Given the description of an element on the screen output the (x, y) to click on. 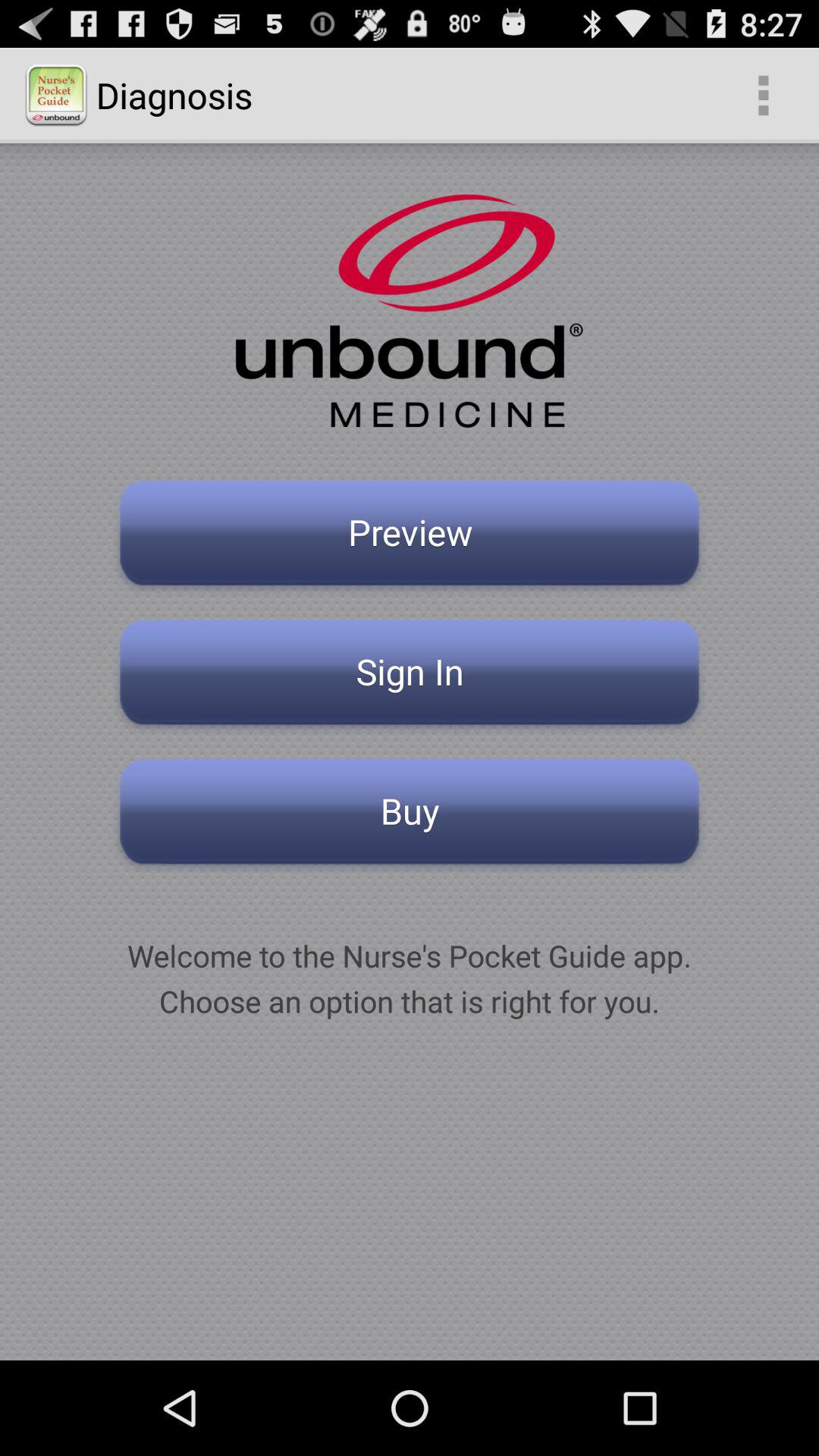
scroll to the sign in icon (409, 676)
